Given the description of an element on the screen output the (x, y) to click on. 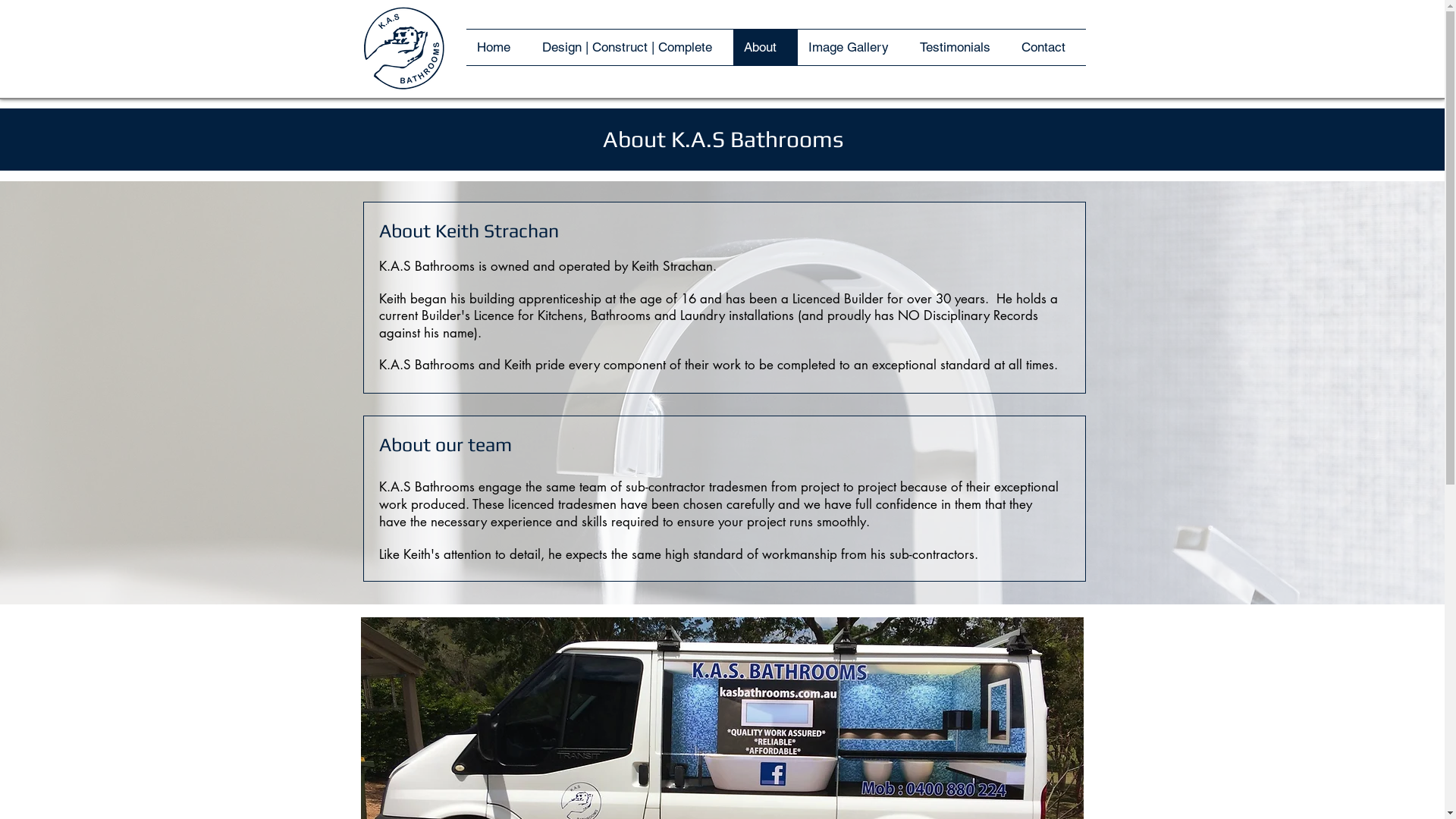
About Element type: text (764, 47)
Home Element type: text (497, 47)
Design | Construct | Complete Element type: text (631, 47)
Contact Element type: text (1047, 47)
Testimonials Element type: text (959, 47)
